Given the description of an element on the screen output the (x, y) to click on. 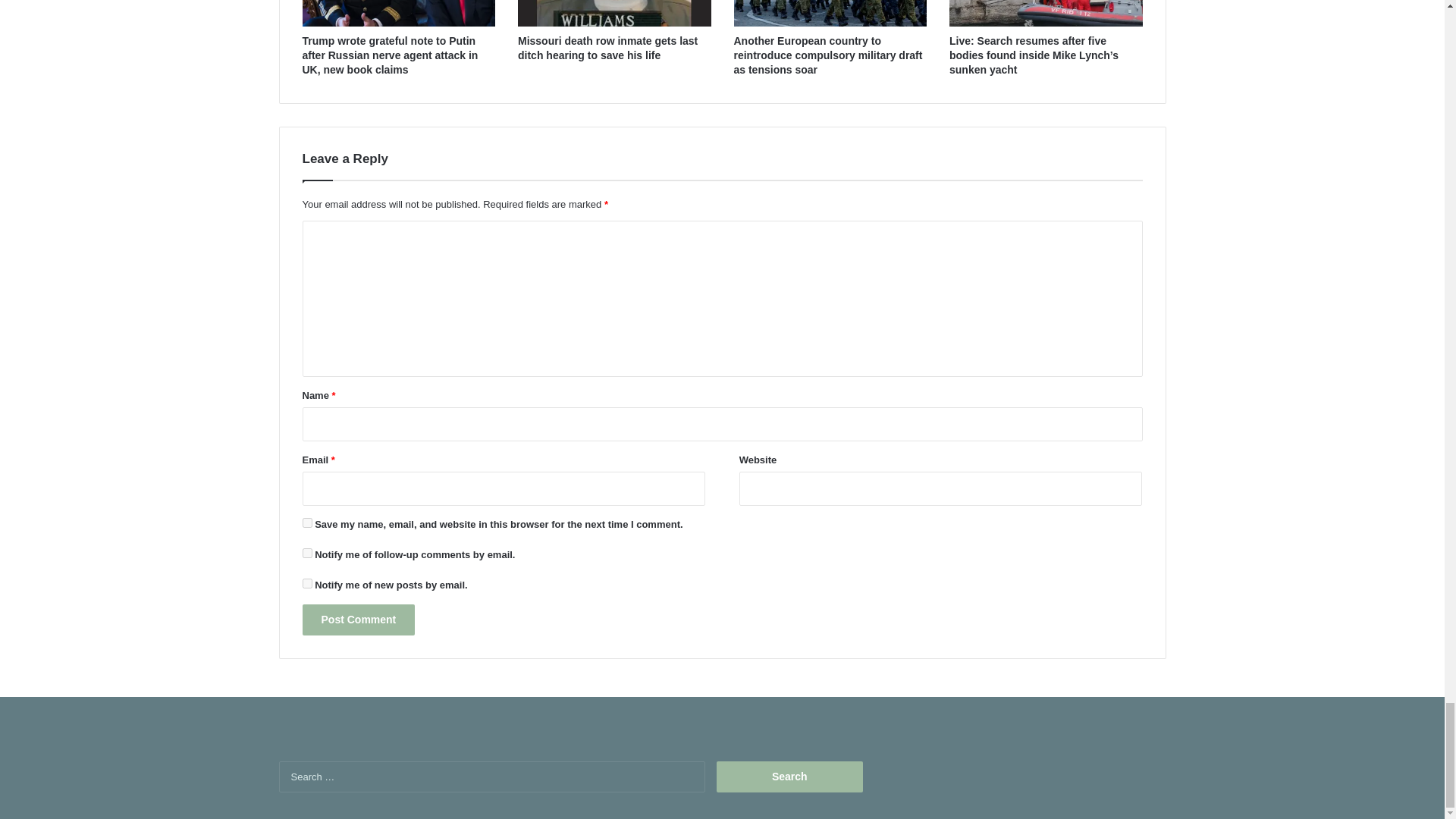
Search (789, 776)
subscribe (306, 583)
yes (306, 522)
subscribe (306, 552)
Search (789, 776)
Post Comment (357, 619)
